Given the description of an element on the screen output the (x, y) to click on. 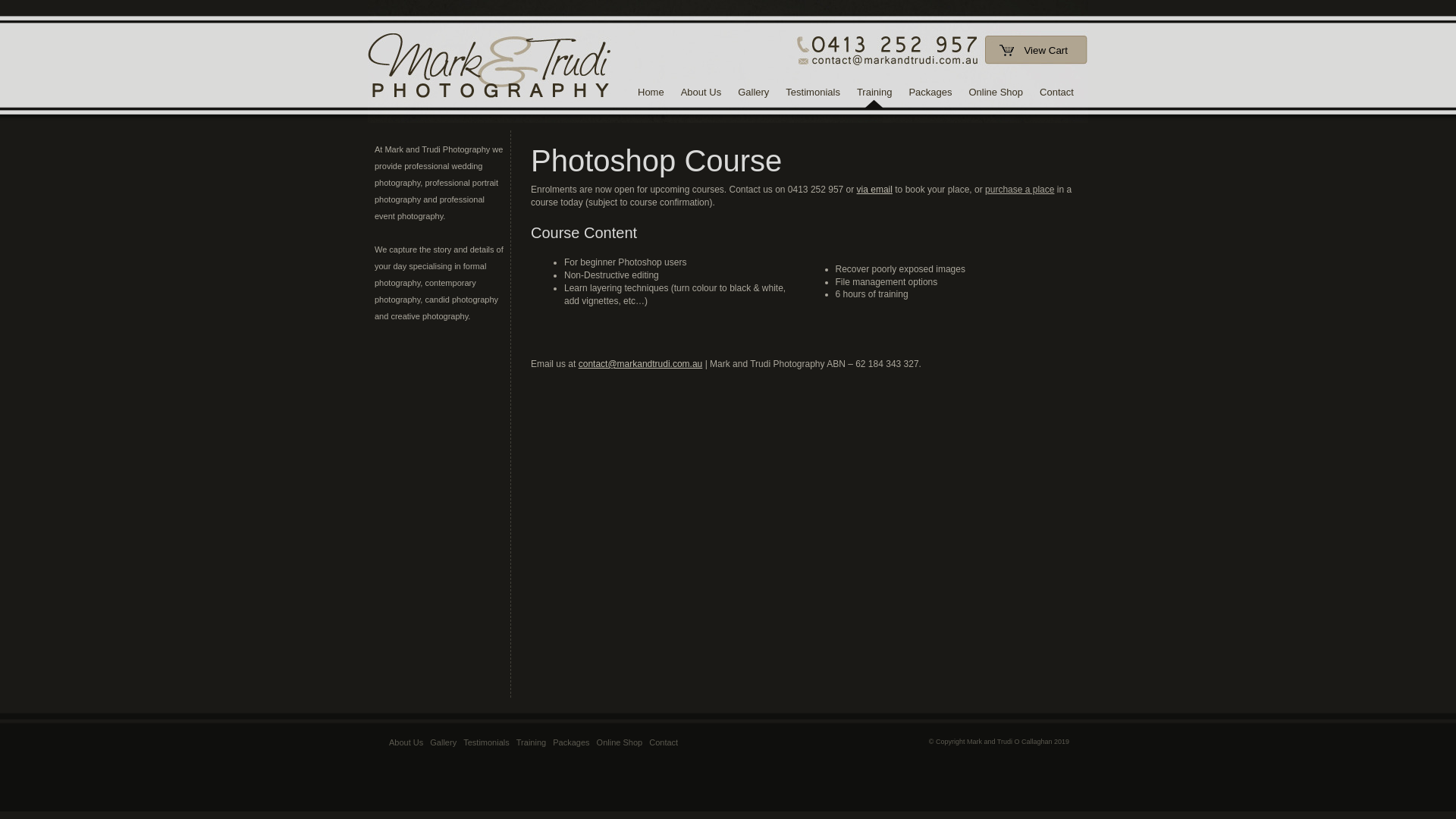
Gallery Element type: text (753, 96)
Packages Element type: text (929, 96)
contact@markandtrudi.com.au Element type: text (640, 363)
About Us Element type: text (405, 742)
via email Element type: text (874, 189)
Training Element type: text (531, 742)
Home Element type: text (650, 96)
Testimonials Element type: text (486, 742)
Contact Element type: text (1056, 96)
View Cart Element type: text (1037, 49)
Gallery Element type: text (442, 742)
Online Shop Element type: text (995, 96)
Testimonials Element type: text (812, 96)
Training Element type: text (874, 96)
Online Shop Element type: text (619, 742)
Contact Element type: text (663, 742)
About Us Element type: text (700, 96)
Packages Element type: text (570, 742)
